Given the description of an element on the screen output the (x, y) to click on. 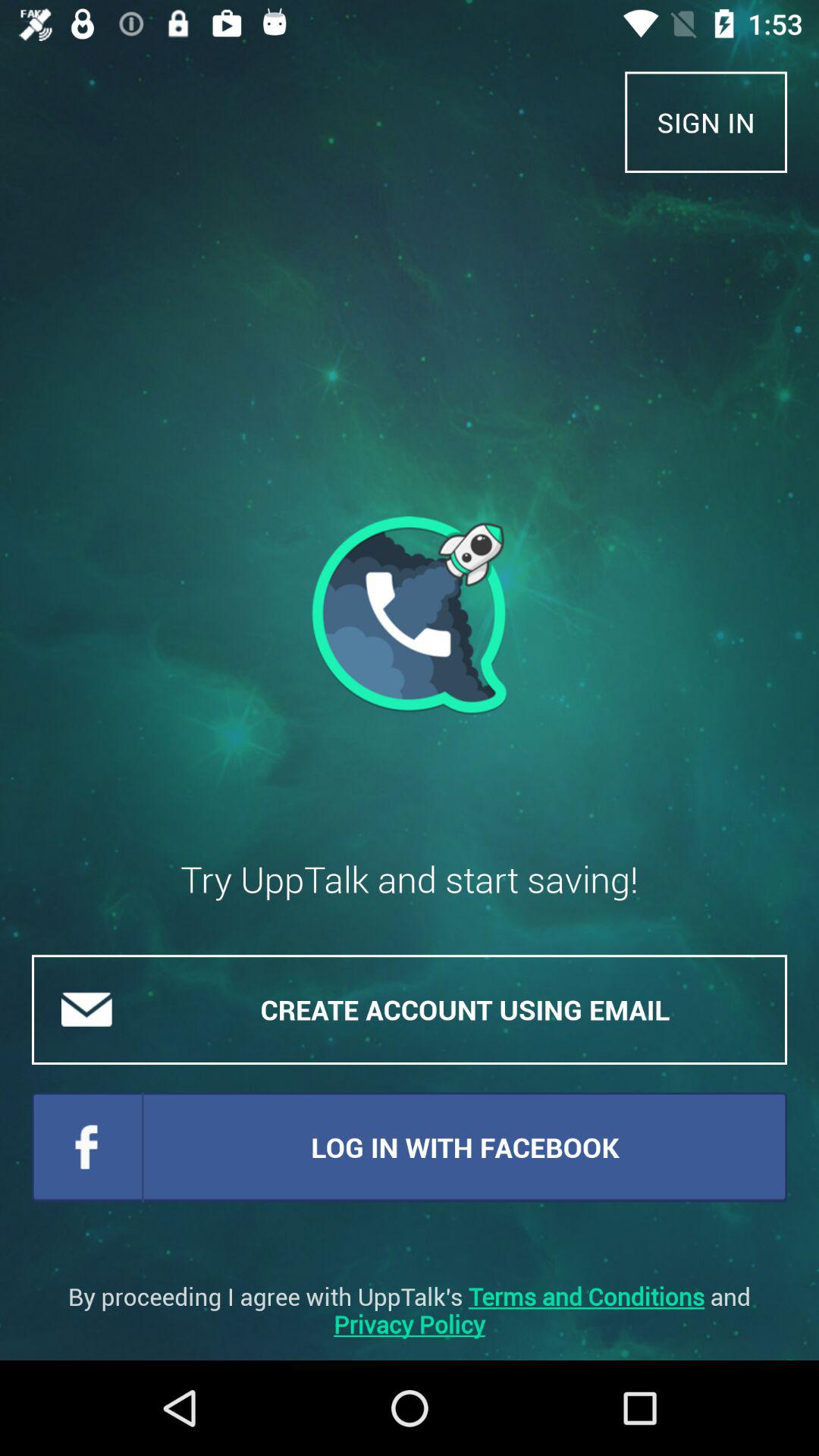
turn on item above try upptalk and (706, 121)
